Given the description of an element on the screen output the (x, y) to click on. 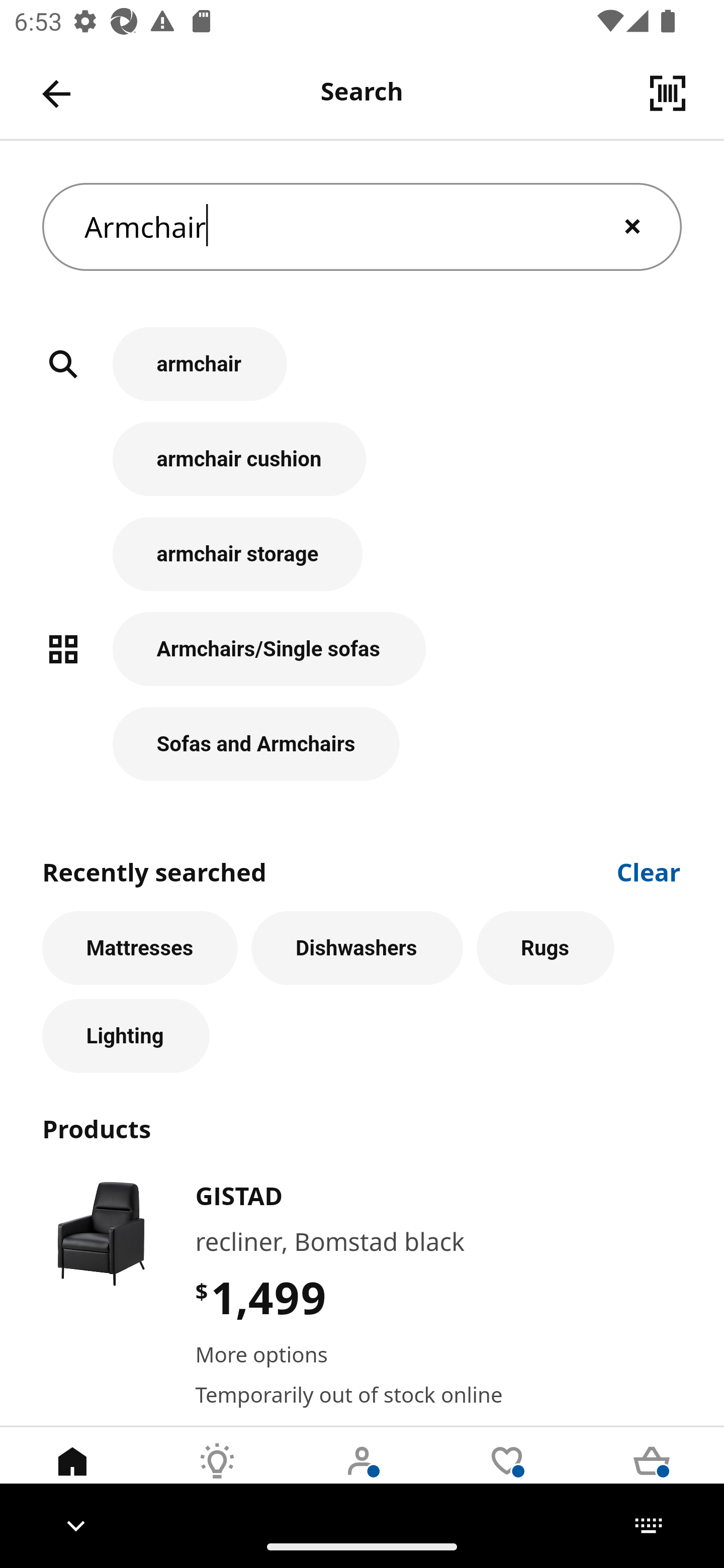
Armchair (361, 227)
armchair (361, 374)
armchair cushion (361, 469)
armchair storage (361, 564)
Armchairs/Single sofas (361, 659)
Sofas and Armchairs (361, 743)
Clear (649, 870)
Mattresses (139, 947)
Dishwashers (357, 947)
Rugs (545, 947)
Lighting (125, 1035)
Home
Tab 1 of 5 (72, 1476)
Inspirations
Tab 2 of 5 (216, 1476)
User
Tab 3 of 5 (361, 1476)
Wishlist
Tab 4 of 5 (506, 1476)
Cart
Tab 5 of 5 (651, 1476)
